Given the description of an element on the screen output the (x, y) to click on. 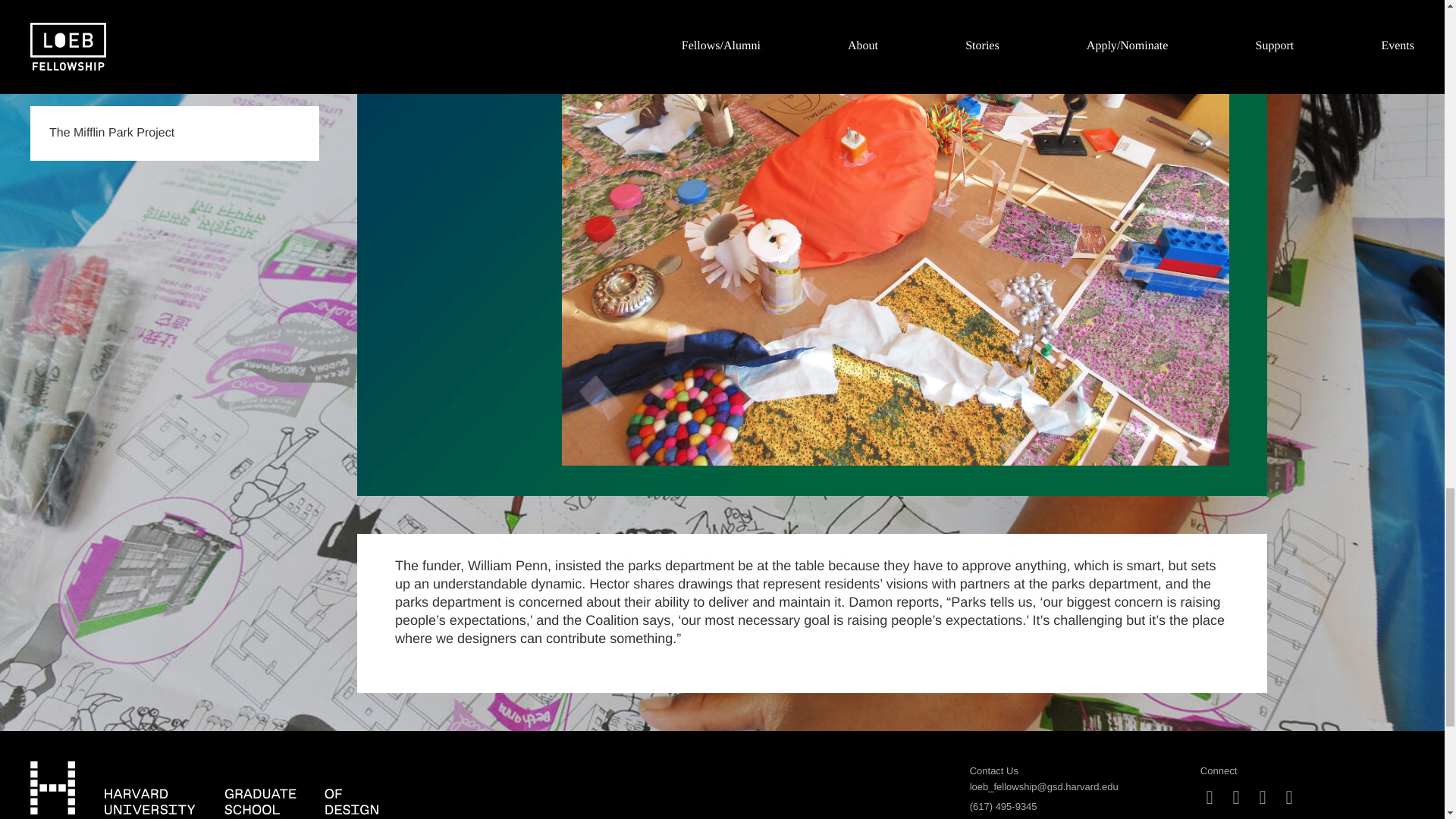
Harvard Graduate School of Design (204, 787)
Contact Us (993, 770)
Visit us on Instagram (1209, 797)
